Given the description of an element on the screen output the (x, y) to click on. 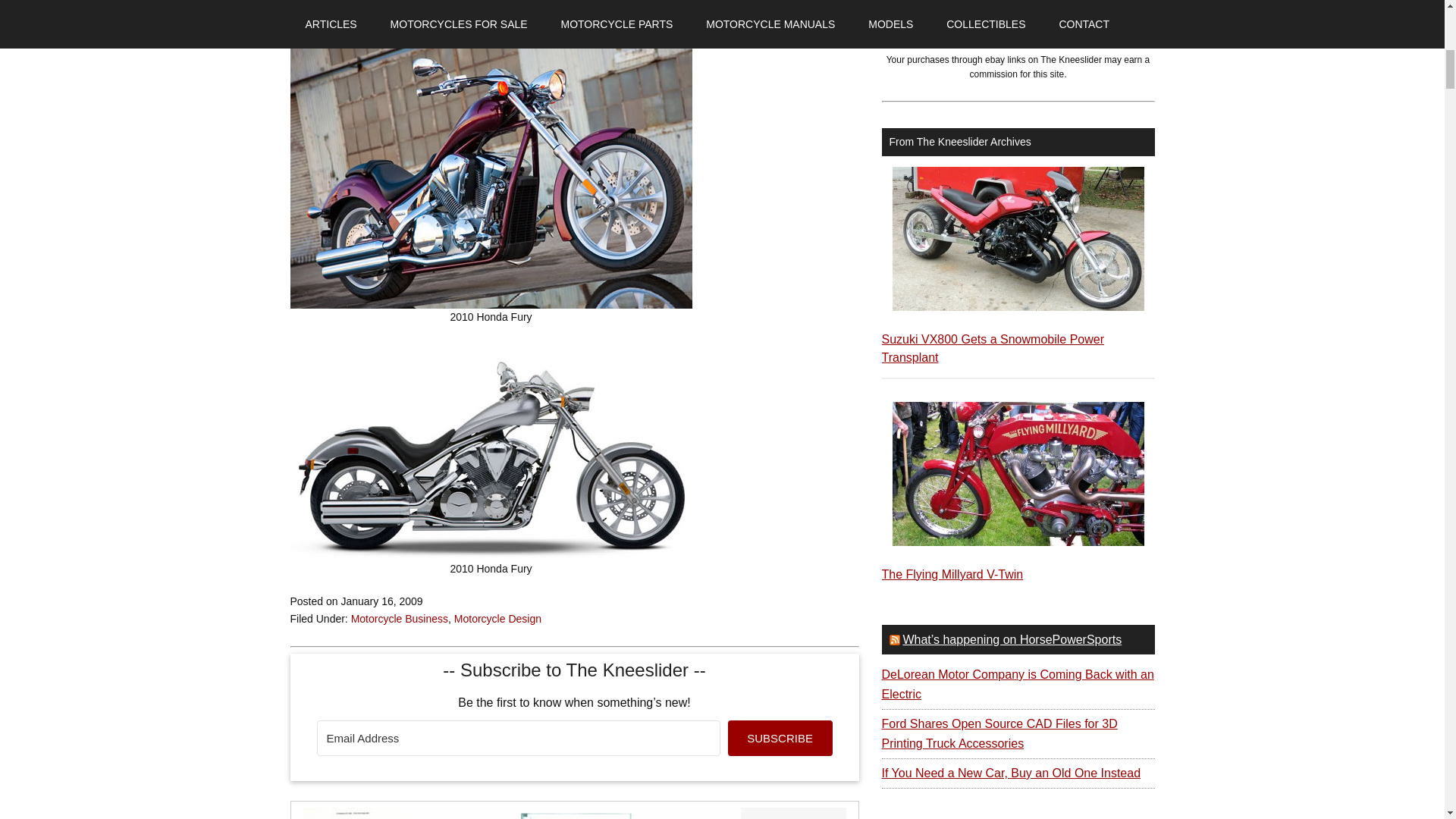
SUBSCRIBE (780, 737)
Motorcycle Design (497, 618)
Honda (339, 4)
2010 Honda Fury (490, 169)
Motorcycle Business (399, 618)
2010 Honda Fury (490, 450)
